Given the description of an element on the screen output the (x, y) to click on. 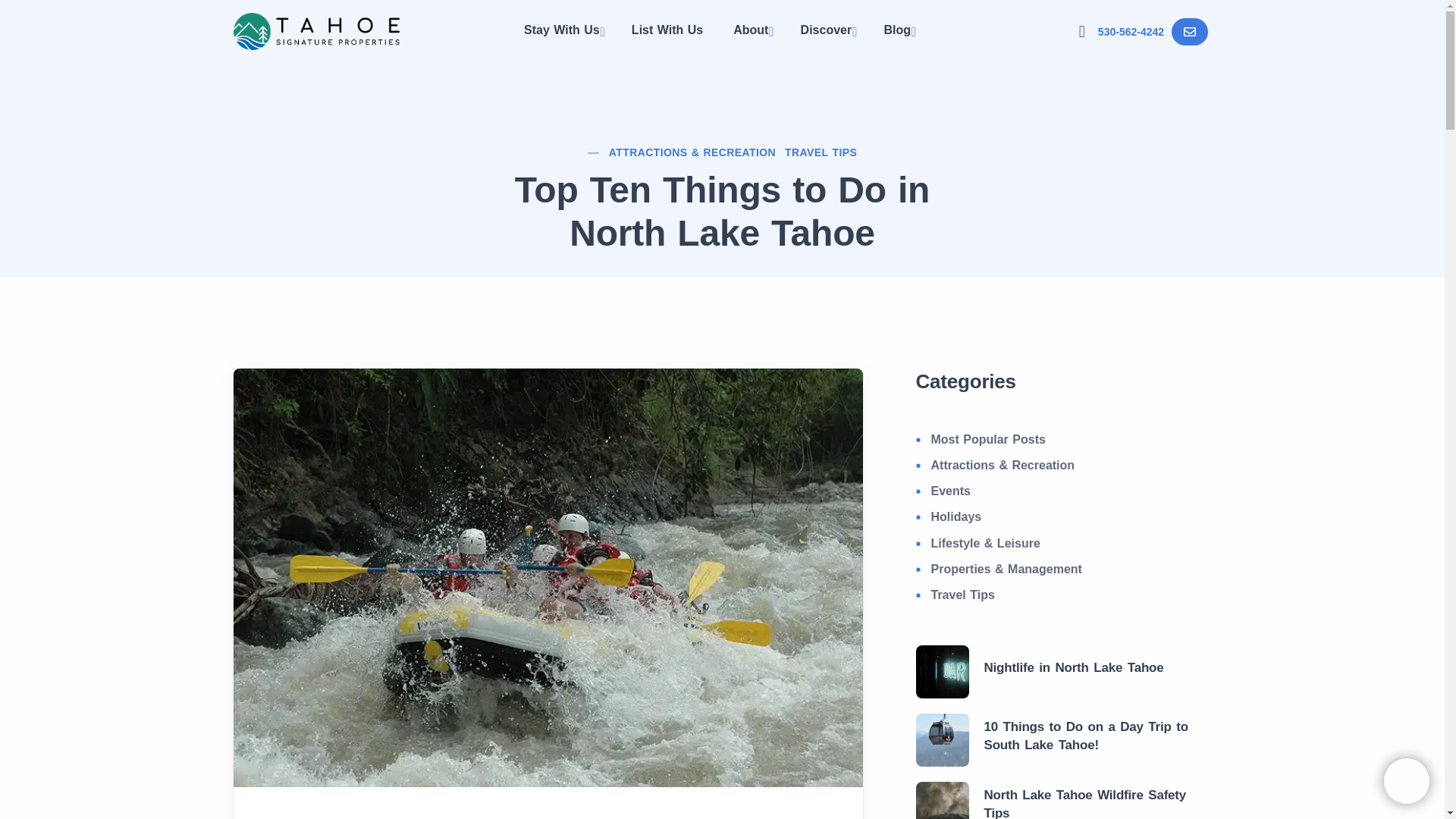
Stay With Us (562, 31)
About (751, 31)
Discover (826, 31)
List With Us (667, 29)
